Given the description of an element on the screen output the (x, y) to click on. 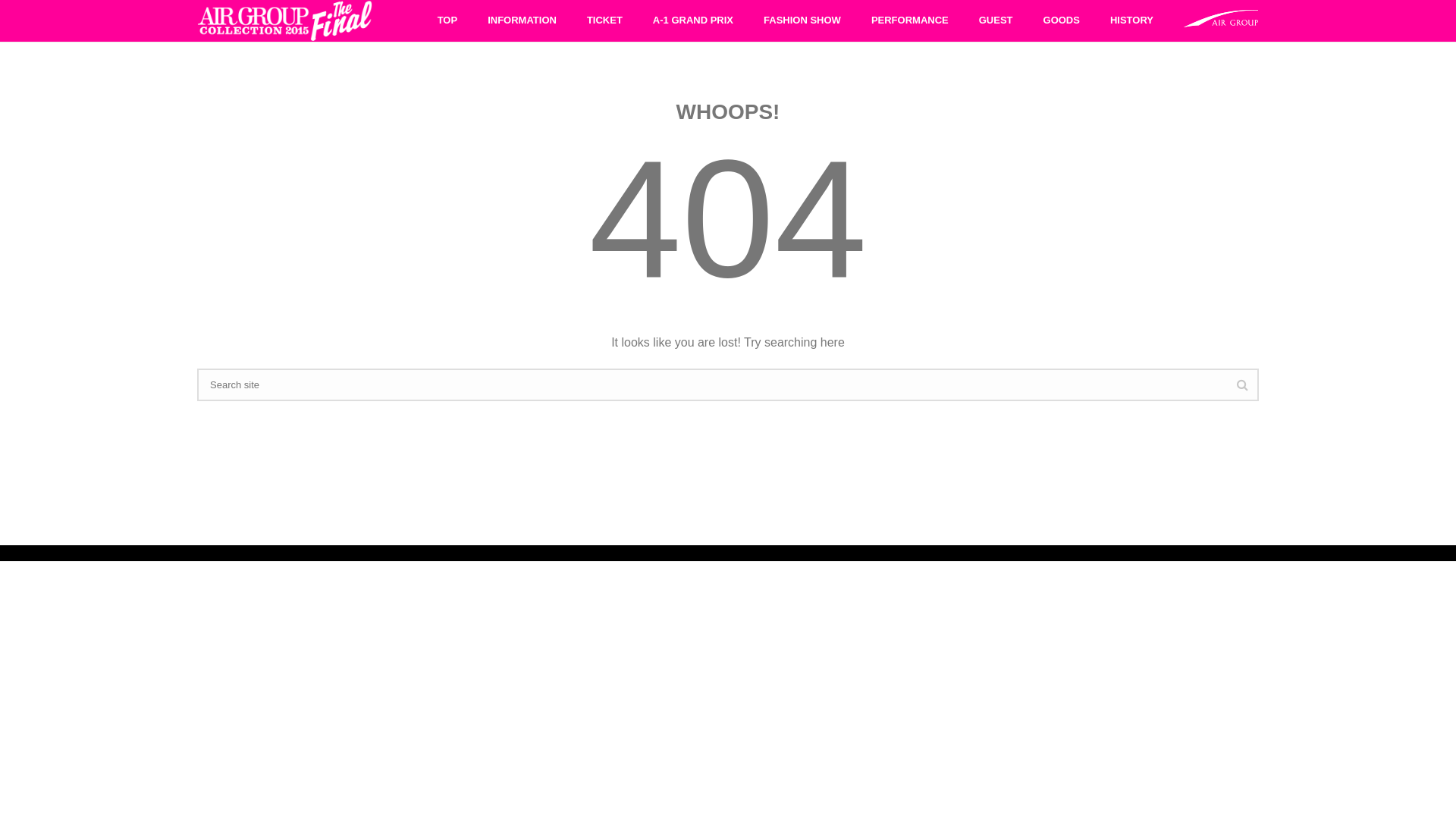
A-1 GRAND PRIX Element type: text (692, 20)
GOODS Element type: text (1061, 20)
HISTORY Element type: text (1131, 20)
PERFORMANCE Element type: text (909, 20)
TICKET Element type: text (604, 20)
GUEST Element type: text (995, 20)
INFORMATION Element type: text (521, 20)
TOP Element type: text (447, 20)
FASHION SHOW Element type: text (802, 20)
